Given the description of an element on the screen output the (x, y) to click on. 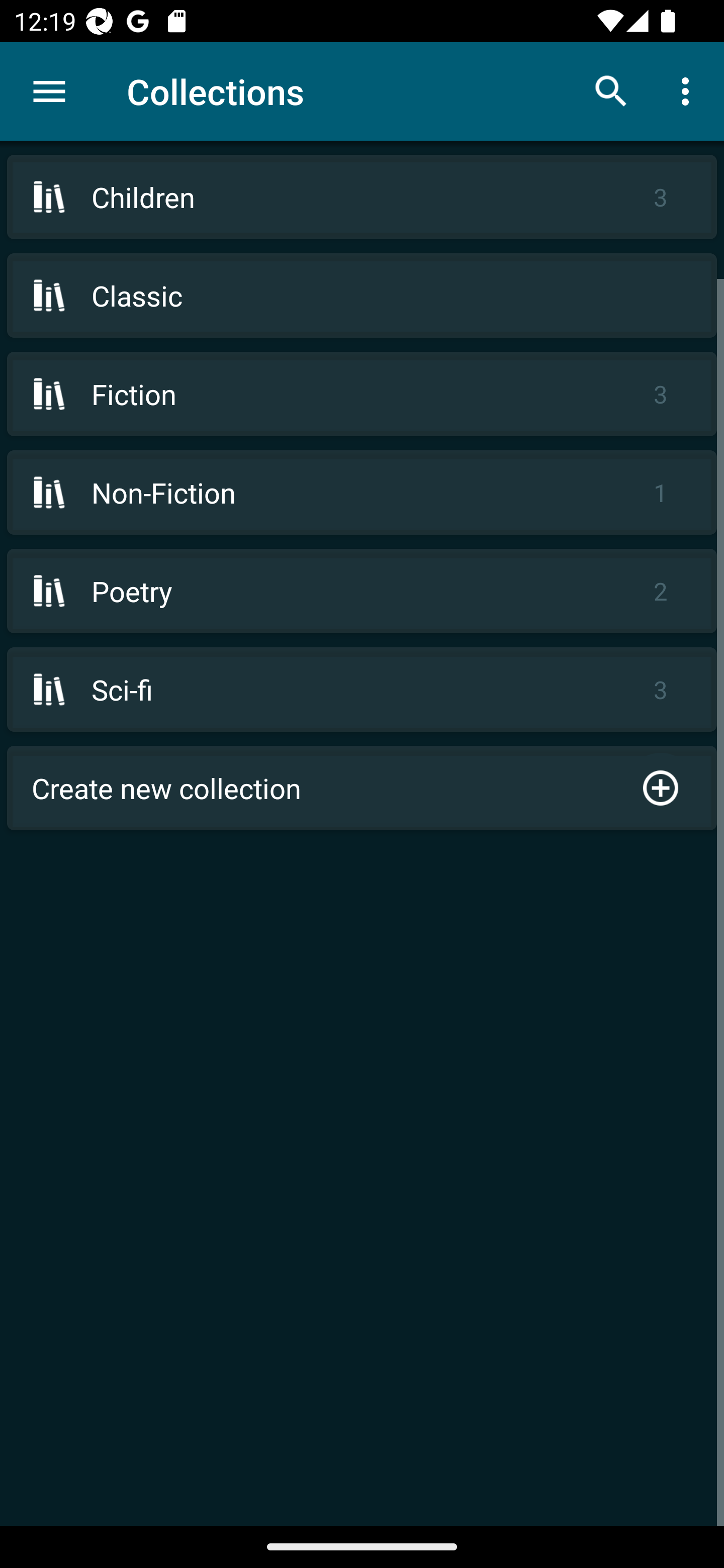
Menu (49, 91)
Search books & documents (611, 90)
More options (688, 90)
Children 3 (361, 197)
Classic (361, 295)
Fiction 3 (361, 393)
Non-Fiction 1 (361, 492)
Poetry 2 (361, 590)
Sci-fi 3 (361, 689)
Create new collection (361, 787)
